Given the description of an element on the screen output the (x, y) to click on. 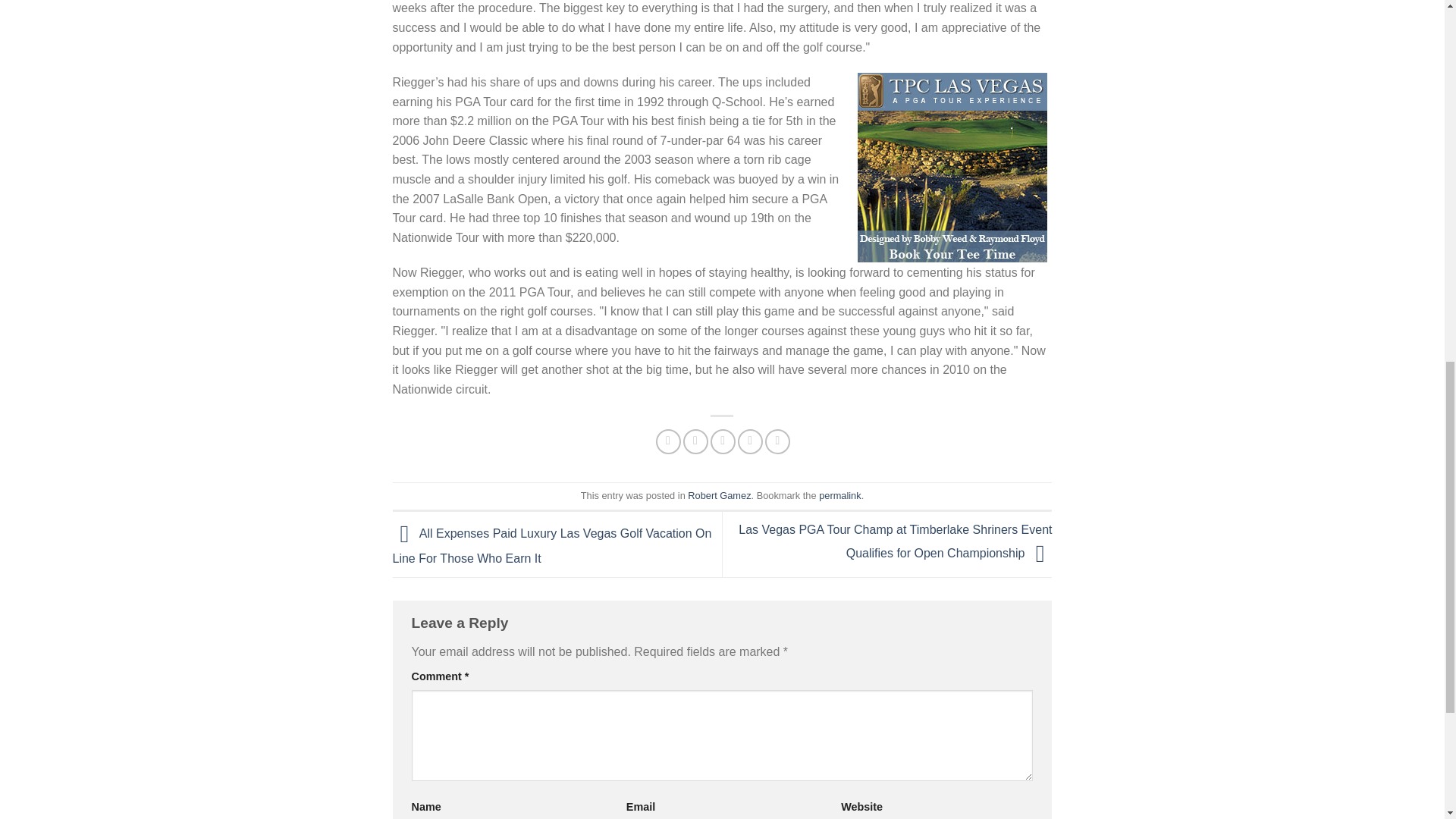
Robert Gamez (719, 495)
permalink (839, 495)
Click for the official website of TPC Las Vegas (951, 167)
